Given the description of an element on the screen output the (x, y) to click on. 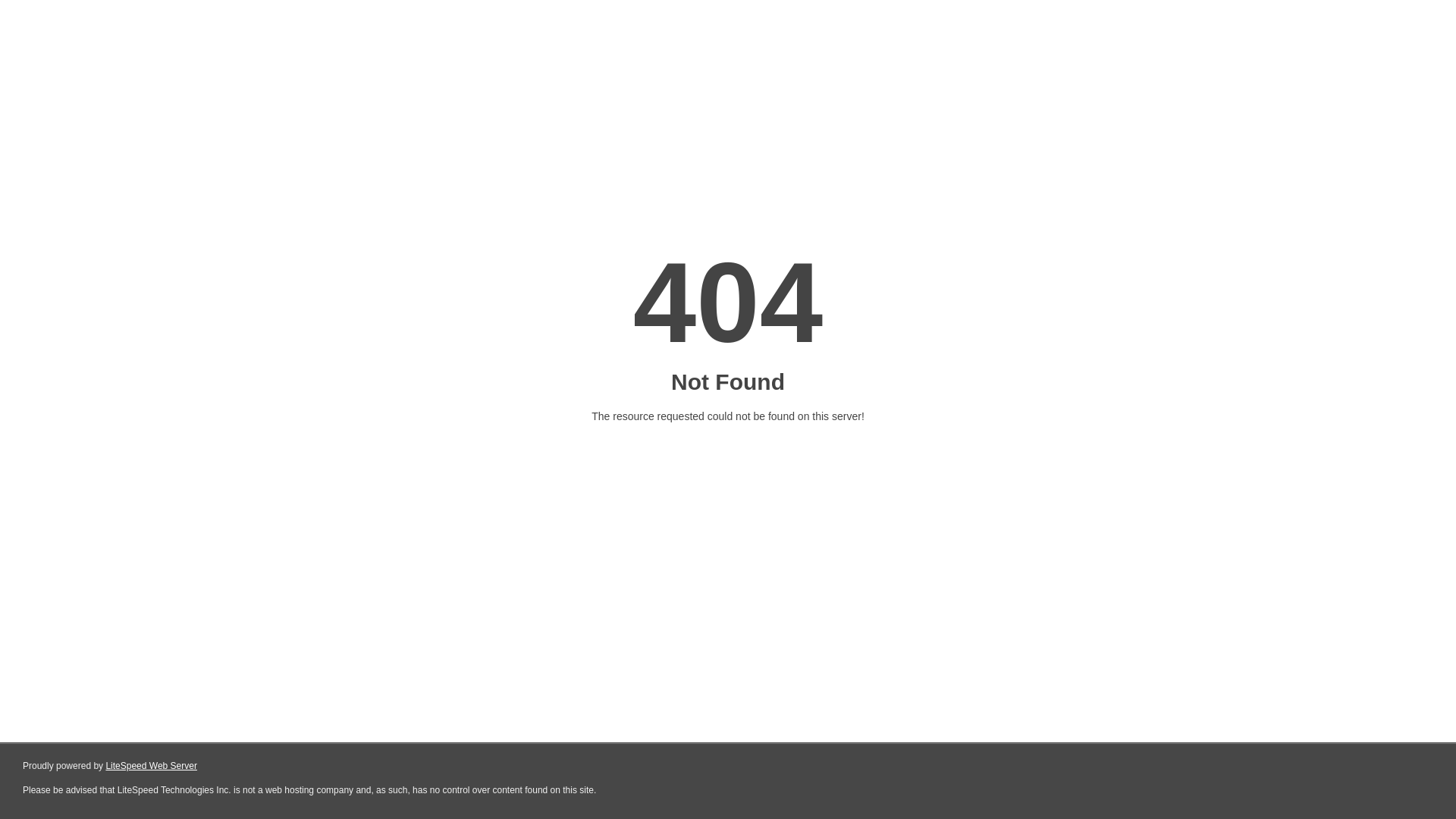
LiteSpeed Web Server Element type: text (151, 765)
